Given the description of an element on the screen output the (x, y) to click on. 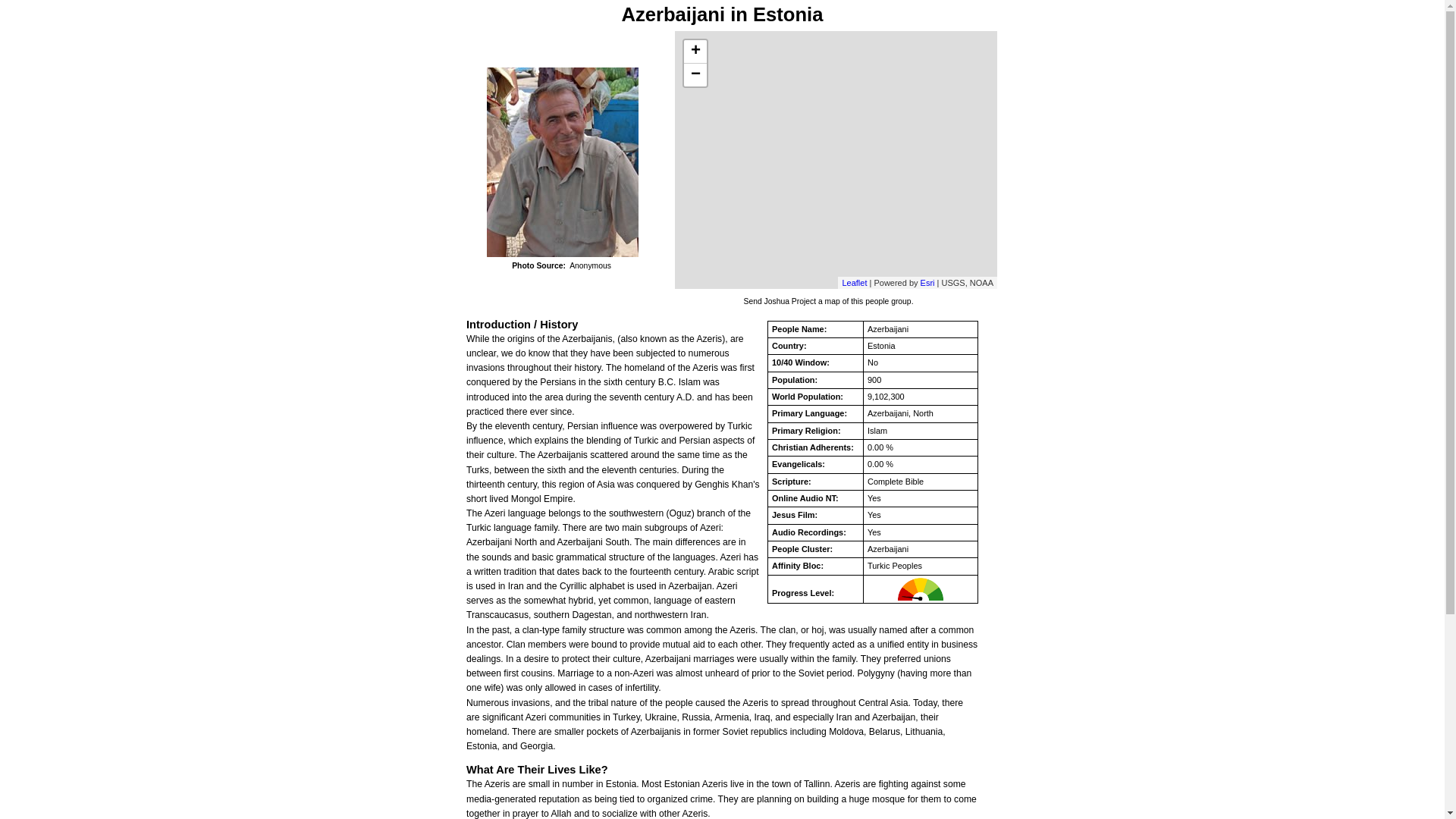
Zoom in (695, 51)
Leaflet (853, 282)
Esri (927, 282)
A JS library for interactive maps (853, 282)
Zoom out (695, 74)
